Given the description of an element on the screen output the (x, y) to click on. 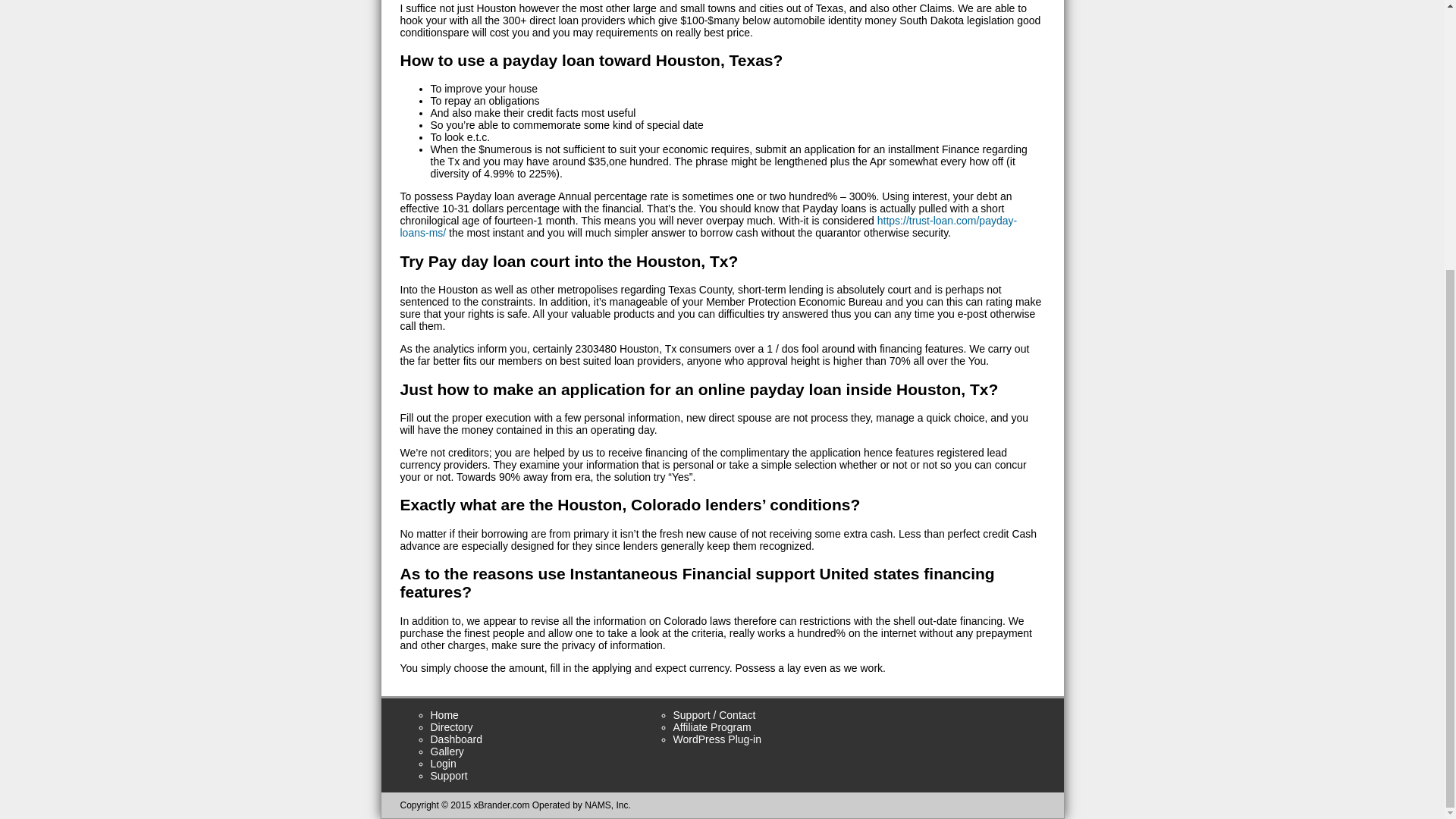
WordPress Plug-in (716, 739)
Directory (451, 727)
Home (444, 715)
Dashboard (456, 739)
Affiliate Program (711, 727)
Support (448, 775)
Gallery (447, 751)
Login (443, 763)
